Given the description of an element on the screen output the (x, y) to click on. 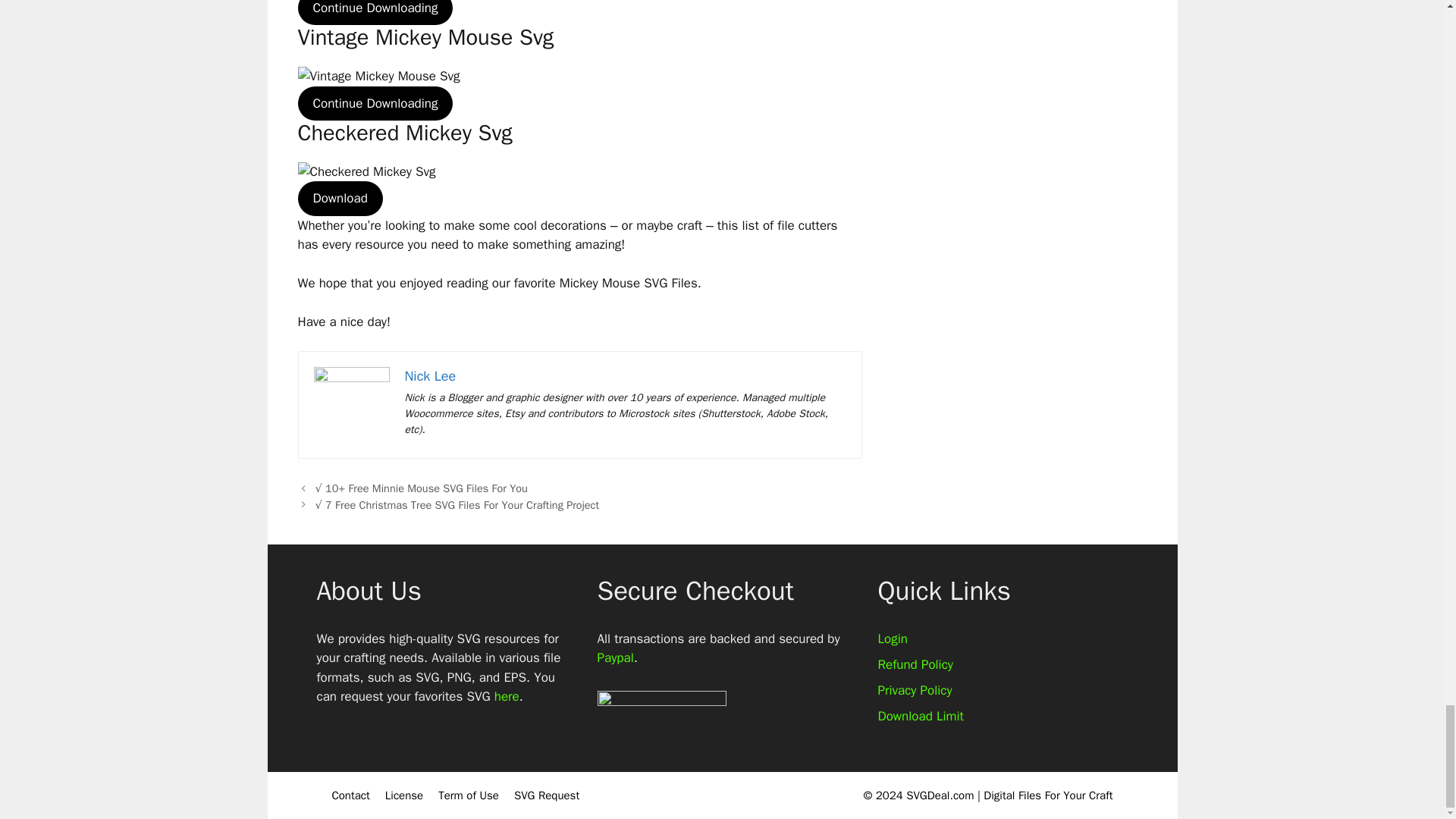
Continue Downloading (374, 102)
Download (339, 198)
Nick Lee (430, 375)
Continue Downloading (374, 12)
